Given the description of an element on the screen output the (x, y) to click on. 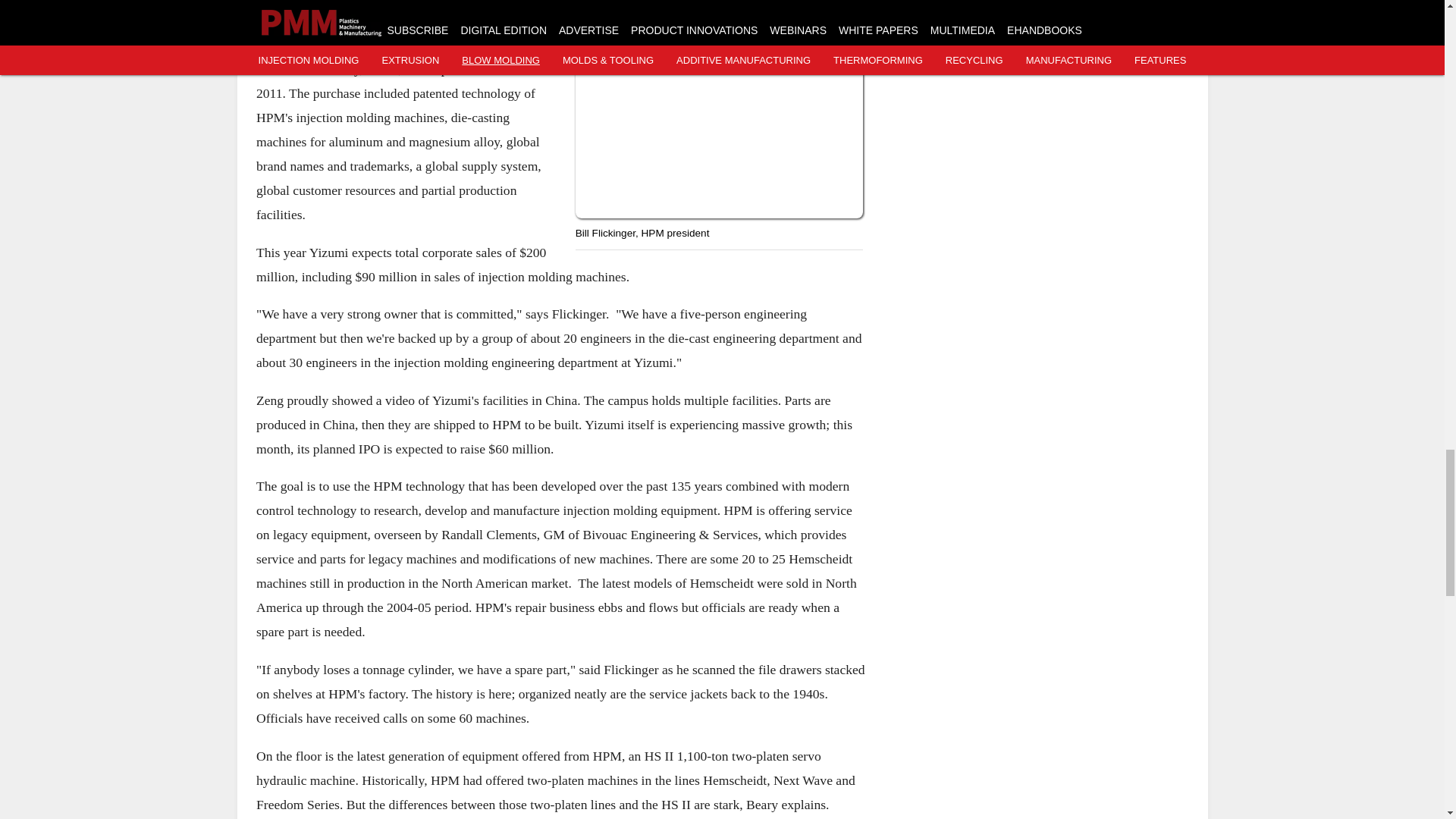
Bill Flickinger, HPM president (719, 109)
